Given the description of an element on the screen output the (x, y) to click on. 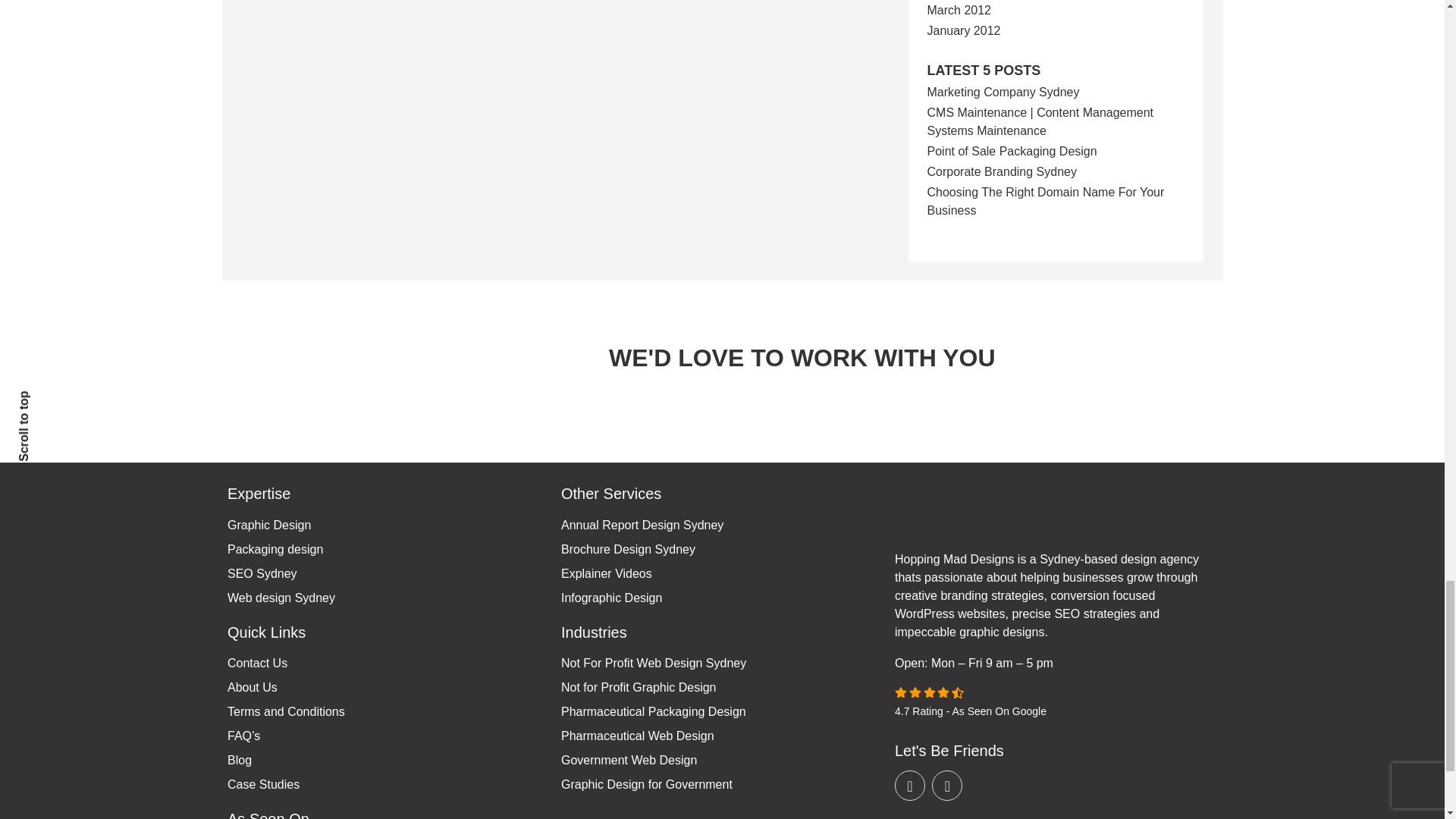
facebook (946, 785)
youtube (909, 785)
Button: We'd love to work with you (528, 347)
